Given the description of an element on the screen output the (x, y) to click on. 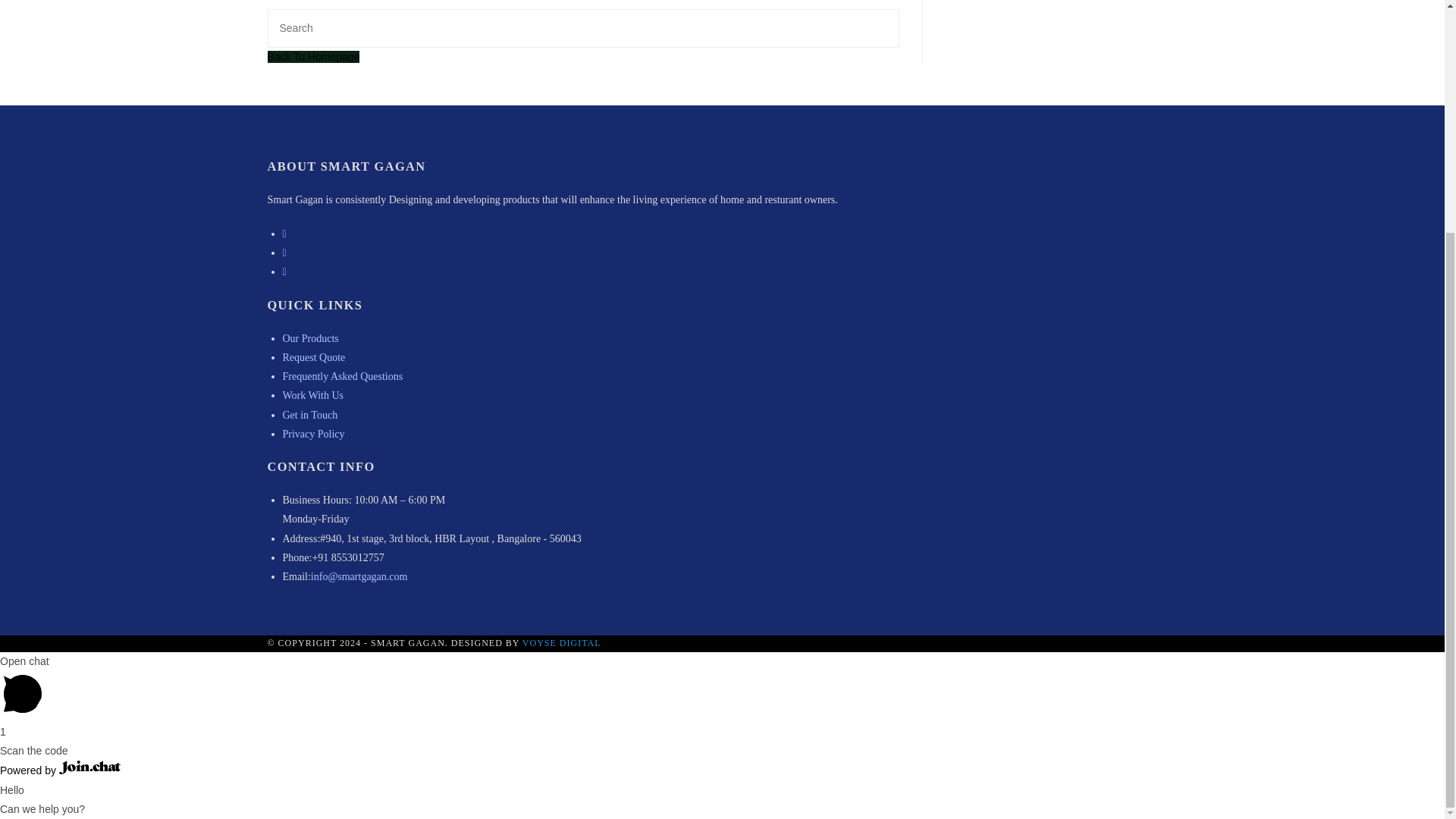
Back To Homepage (312, 56)
Our Products (309, 337)
Joinchat (89, 766)
